Given the description of an element on the screen output the (x, y) to click on. 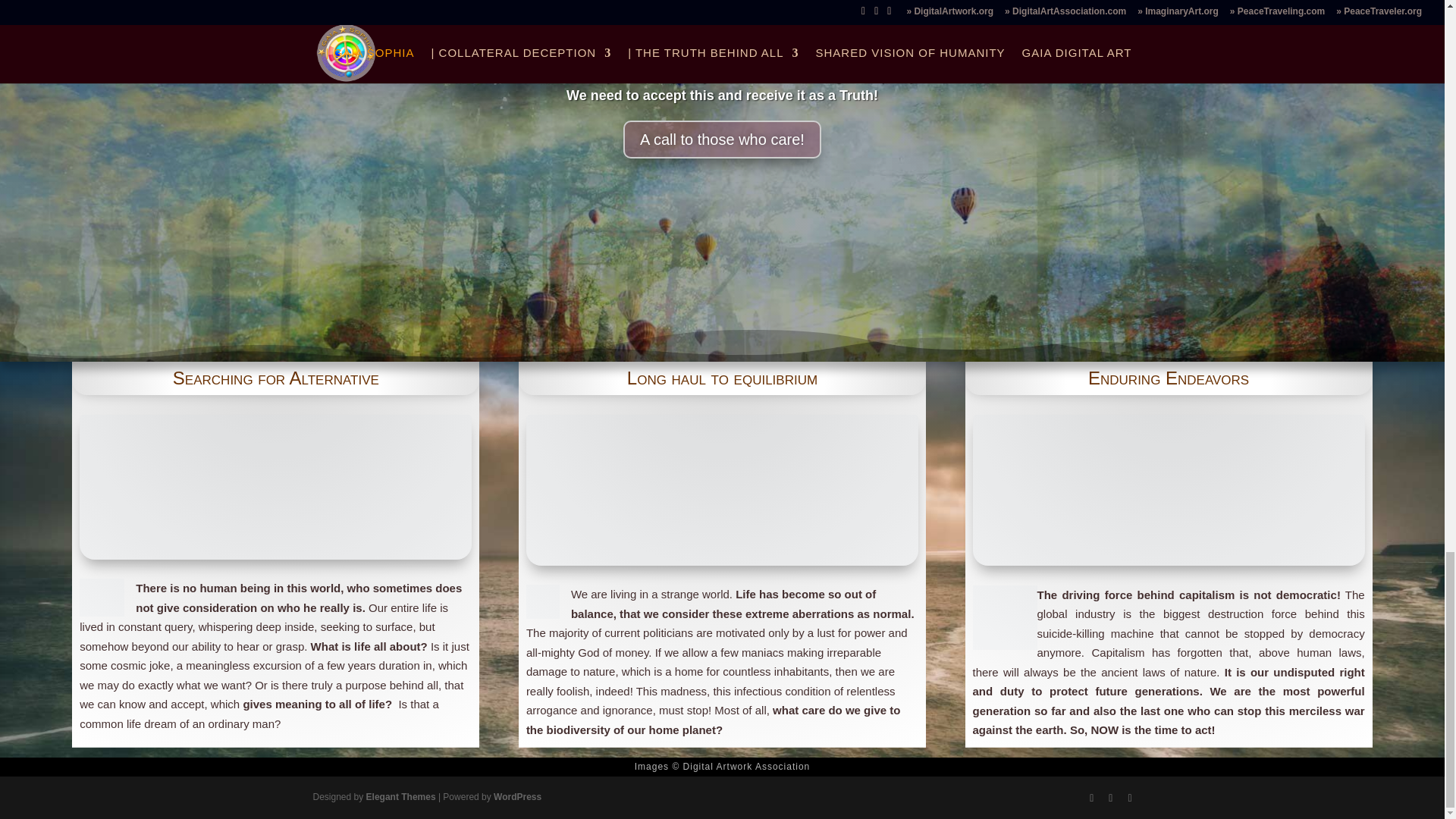
slide-peacetraveling-quest04 (275, 486)
A call to those who care! (722, 164)
WordPress (517, 796)
fredoom-to-pollute (1168, 489)
Elegant Themes (400, 796)
Premium WordPress Themes (400, 796)
peacetraveler-truthbehind (721, 489)
